Given the description of an element on the screen output the (x, y) to click on. 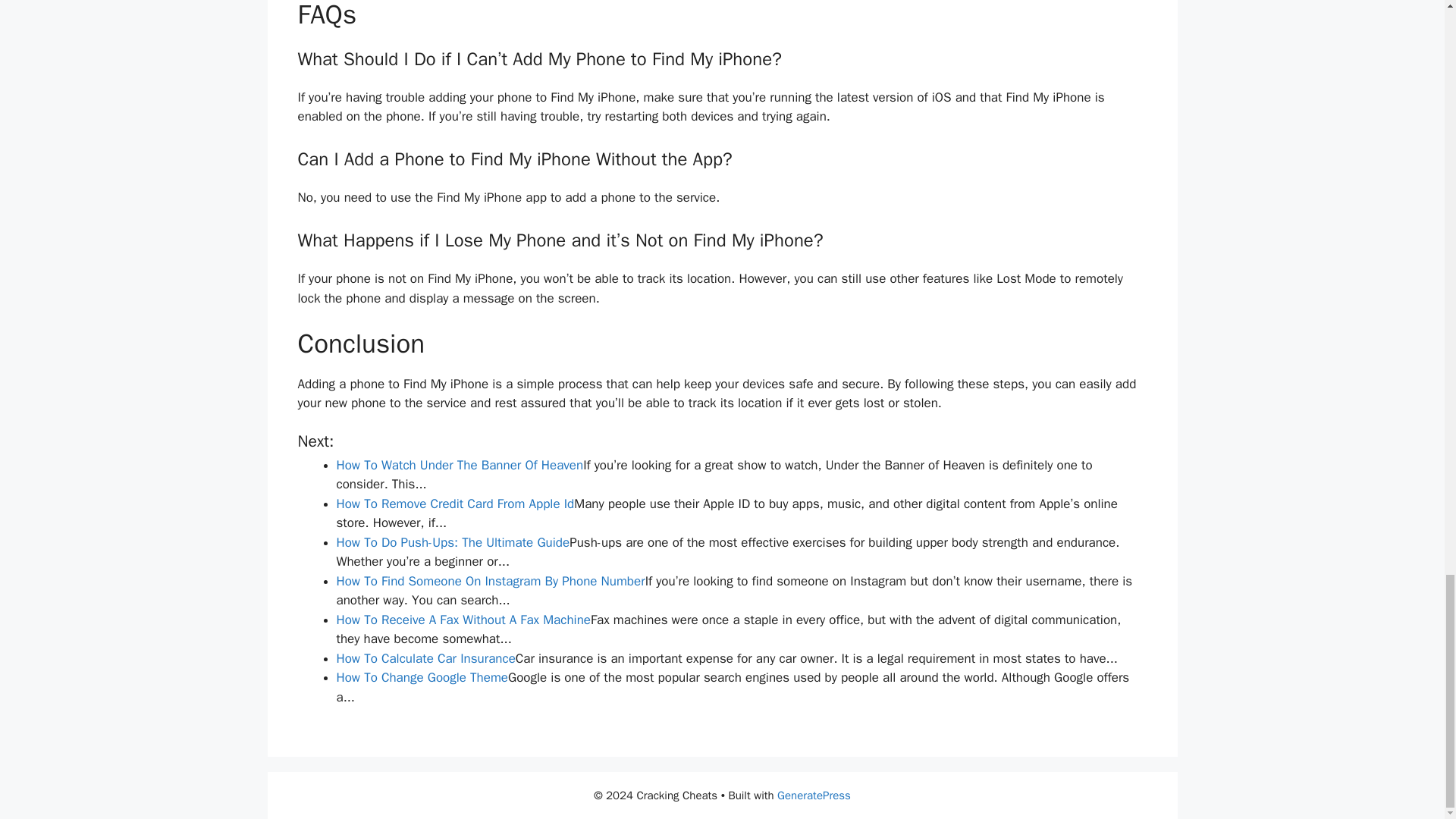
How To Receive A Fax Without A Fax Machine (463, 619)
How To Find Someone On Instagram By Phone Number (490, 580)
How To Calculate Car Insurance (425, 658)
How To Remove Credit Card From Apple Id (455, 503)
GeneratePress (813, 795)
How To Watch Under The Banner Of Heaven (459, 465)
How To Do Push-Ups: The Ultimate Guide (453, 542)
How To Change Google Theme (422, 677)
